Given the description of an element on the screen output the (x, y) to click on. 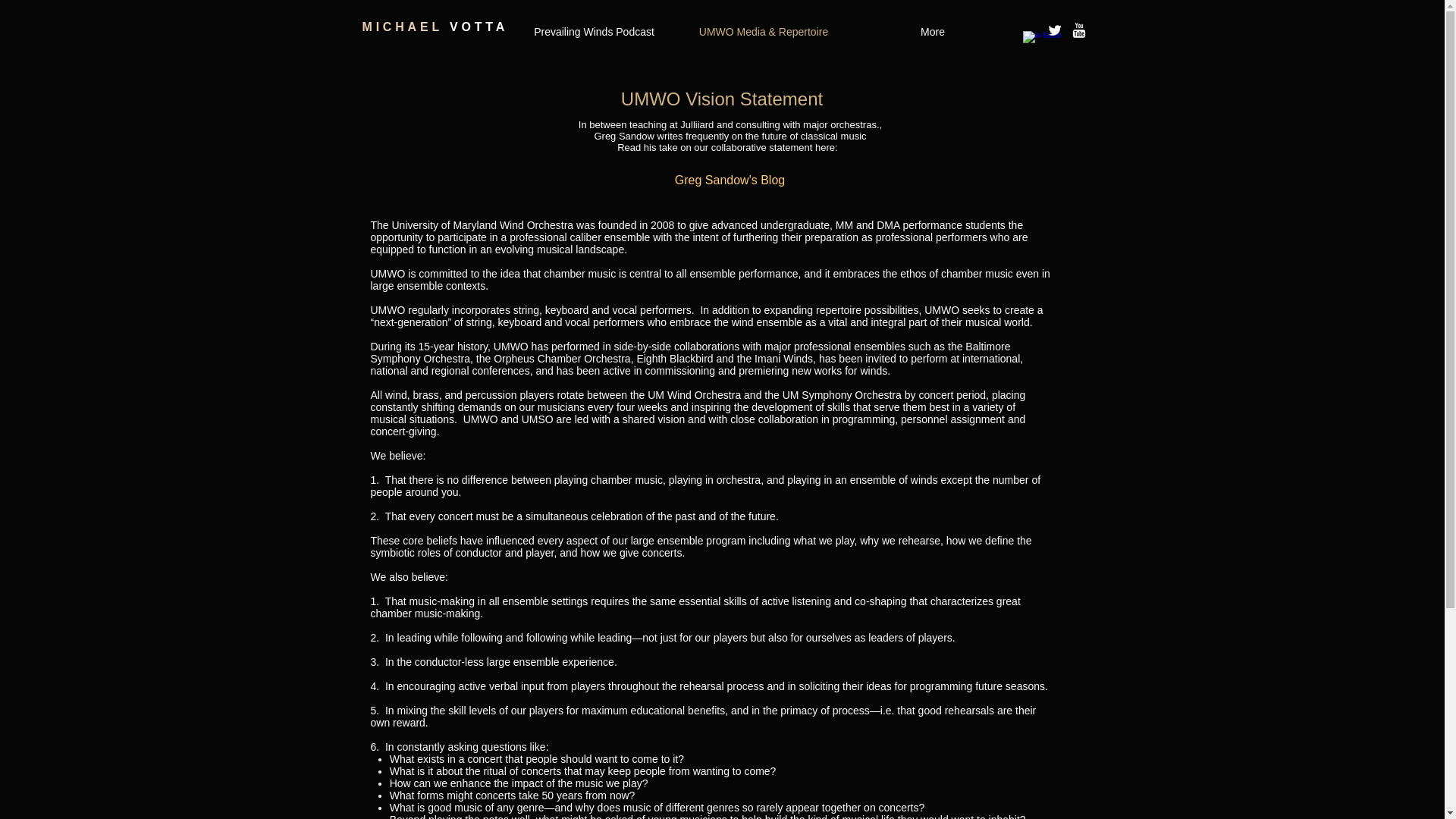
Prevailing Winds Podcast (594, 31)
Greg Sandow's Blog (730, 180)
MICHAEL VOTTA (435, 26)
